Given the description of an element on the screen output the (x, y) to click on. 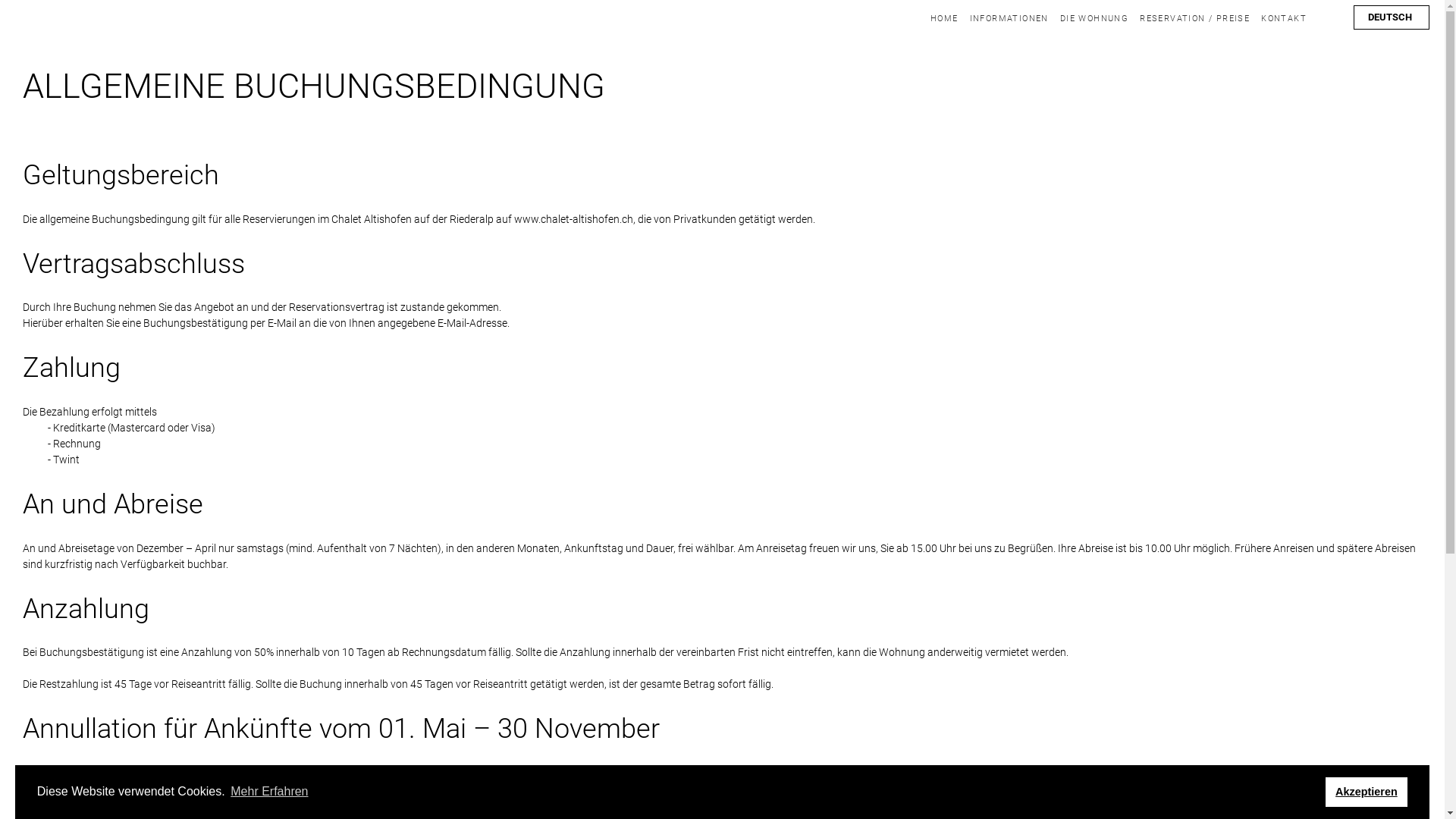
Akzeptieren Element type: text (1366, 791)
INFORMATIONEN Element type: text (1008, 18)
KONTAKT Element type: text (1283, 18)
RESERVATION / PREISE Element type: text (1194, 18)
Agb's Element type: text (706, 811)
Mehr Erfahren Element type: text (269, 791)
HOME Element type: text (944, 18)
DIE WOHNUNG Element type: text (1094, 18)
Impressum Element type: text (752, 811)
